Given the description of an element on the screen output the (x, y) to click on. 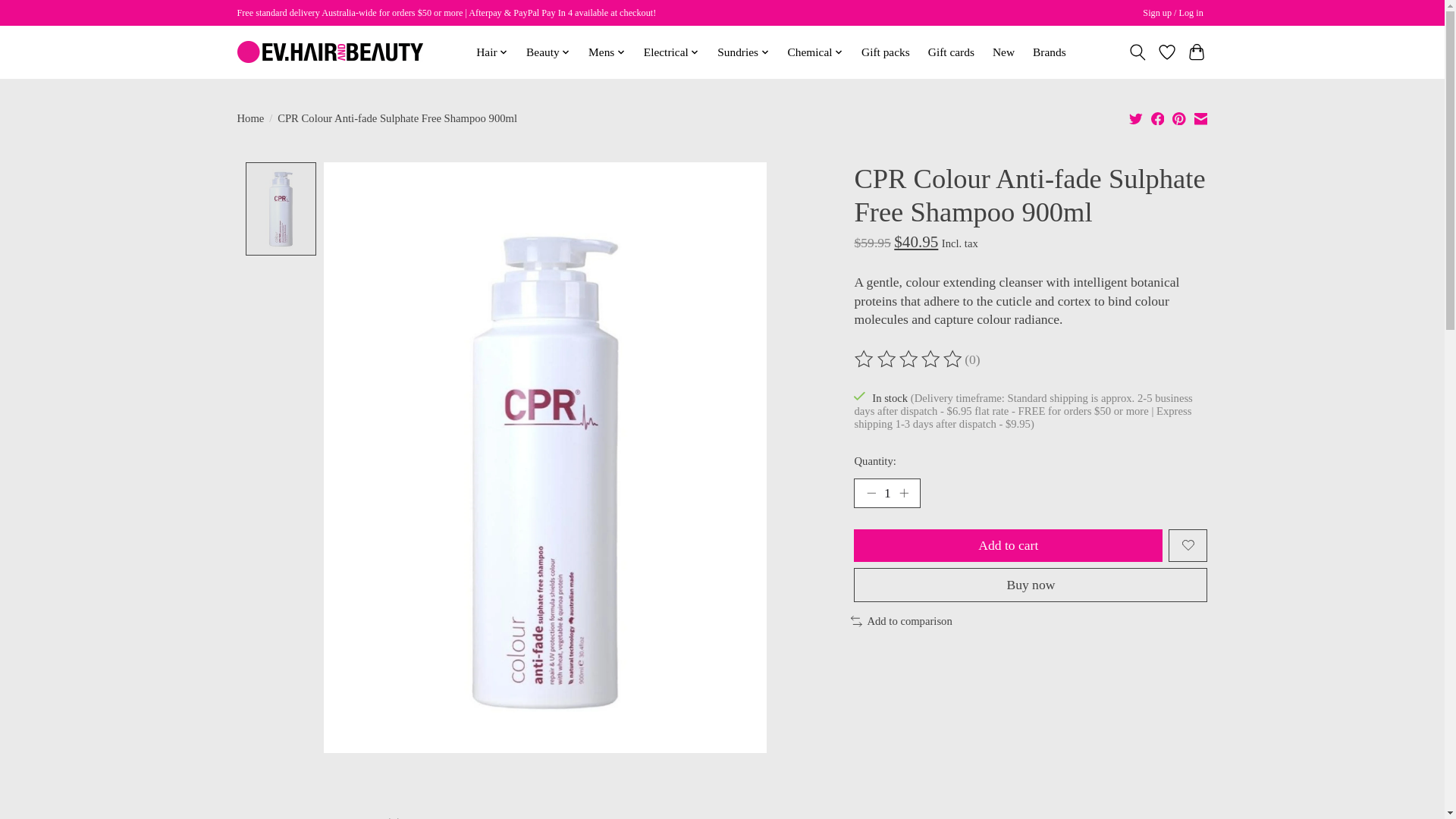
1 (886, 493)
Share by Email (1200, 118)
Share on Facebook (1157, 118)
Hair (491, 52)
Share on Pinterest (1178, 118)
My account (1173, 13)
Share on Twitter (1135, 118)
